Given the description of an element on the screen output the (x, y) to click on. 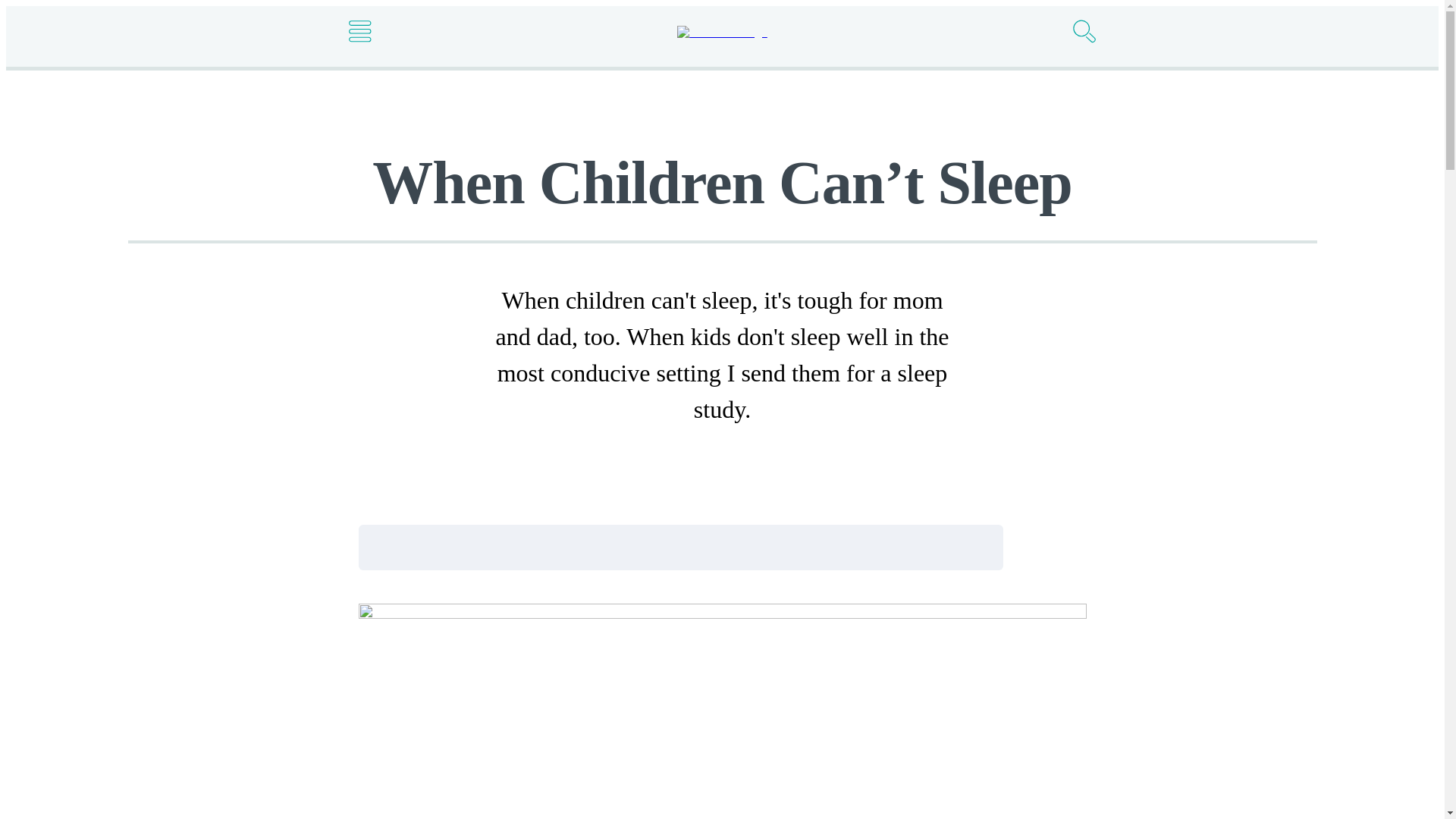
Dr Greene logo (722, 32)
